Given the description of an element on the screen output the (x, y) to click on. 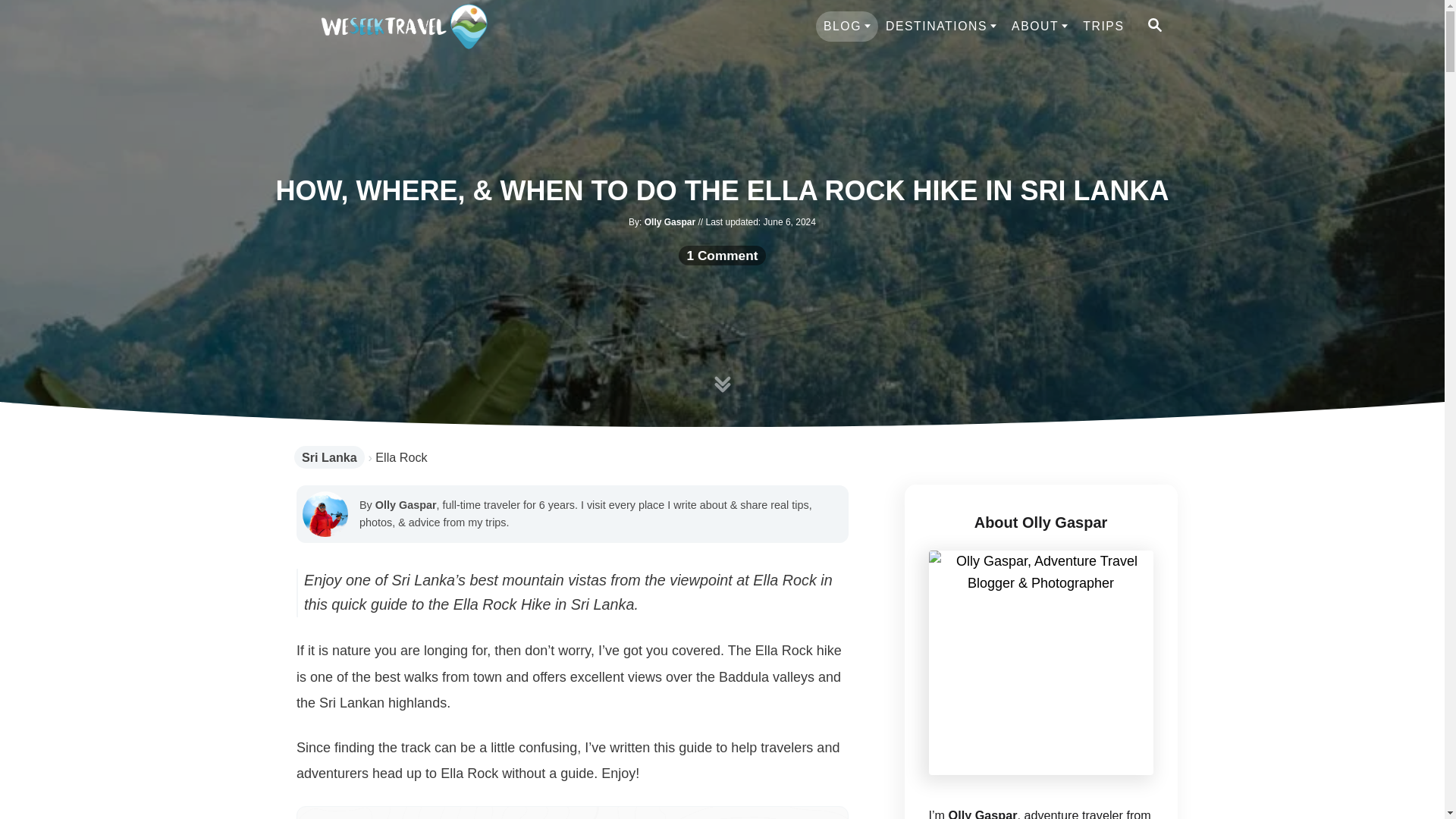
We Seek Travel (403, 26)
SEARCH (1153, 26)
DESTINATIONS (940, 26)
BLOG (846, 26)
